Given the description of an element on the screen output the (x, y) to click on. 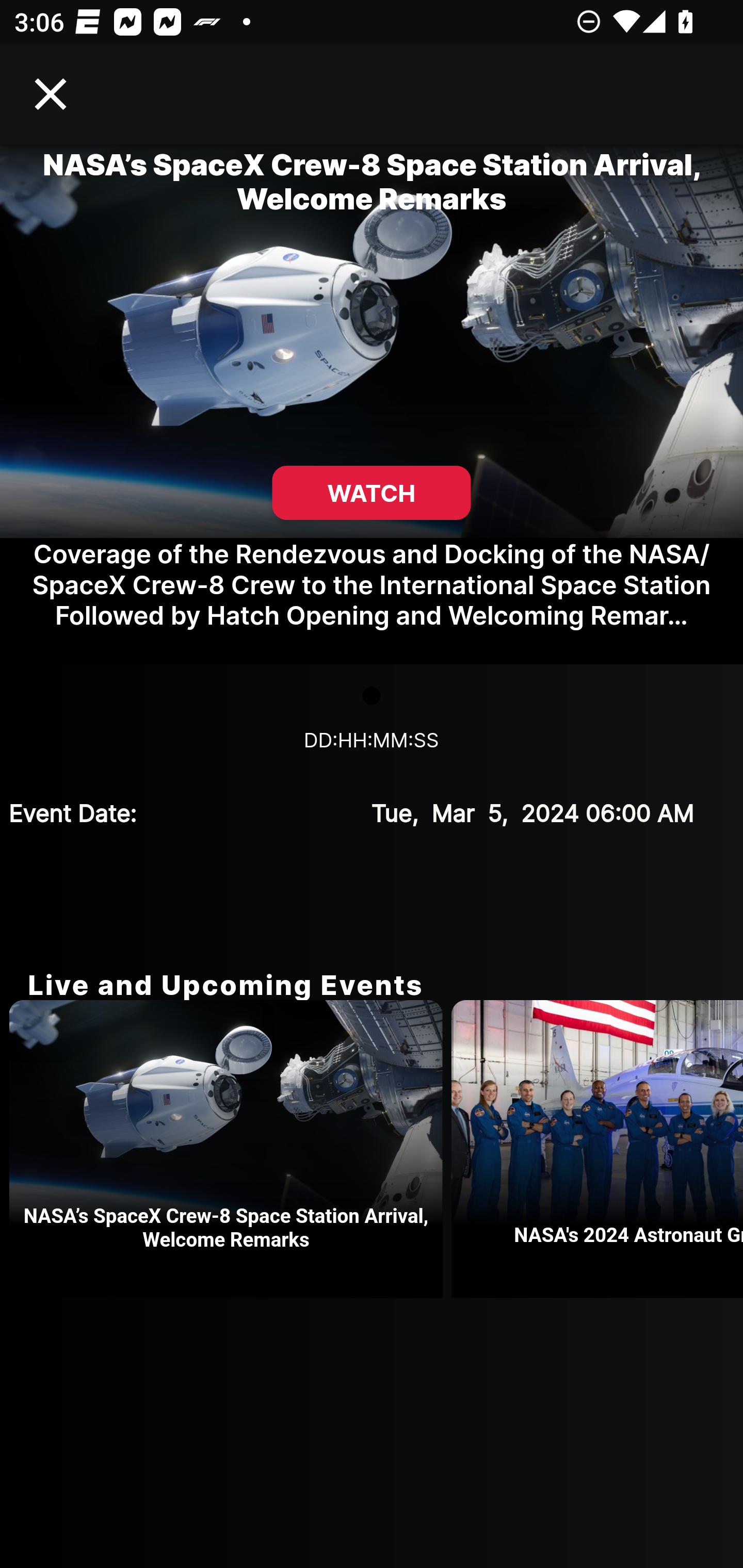
WATCH (371, 492)
NASA's 2024 Astronaut Graduation (597, 1149)
